Given the description of an element on the screen output the (x, y) to click on. 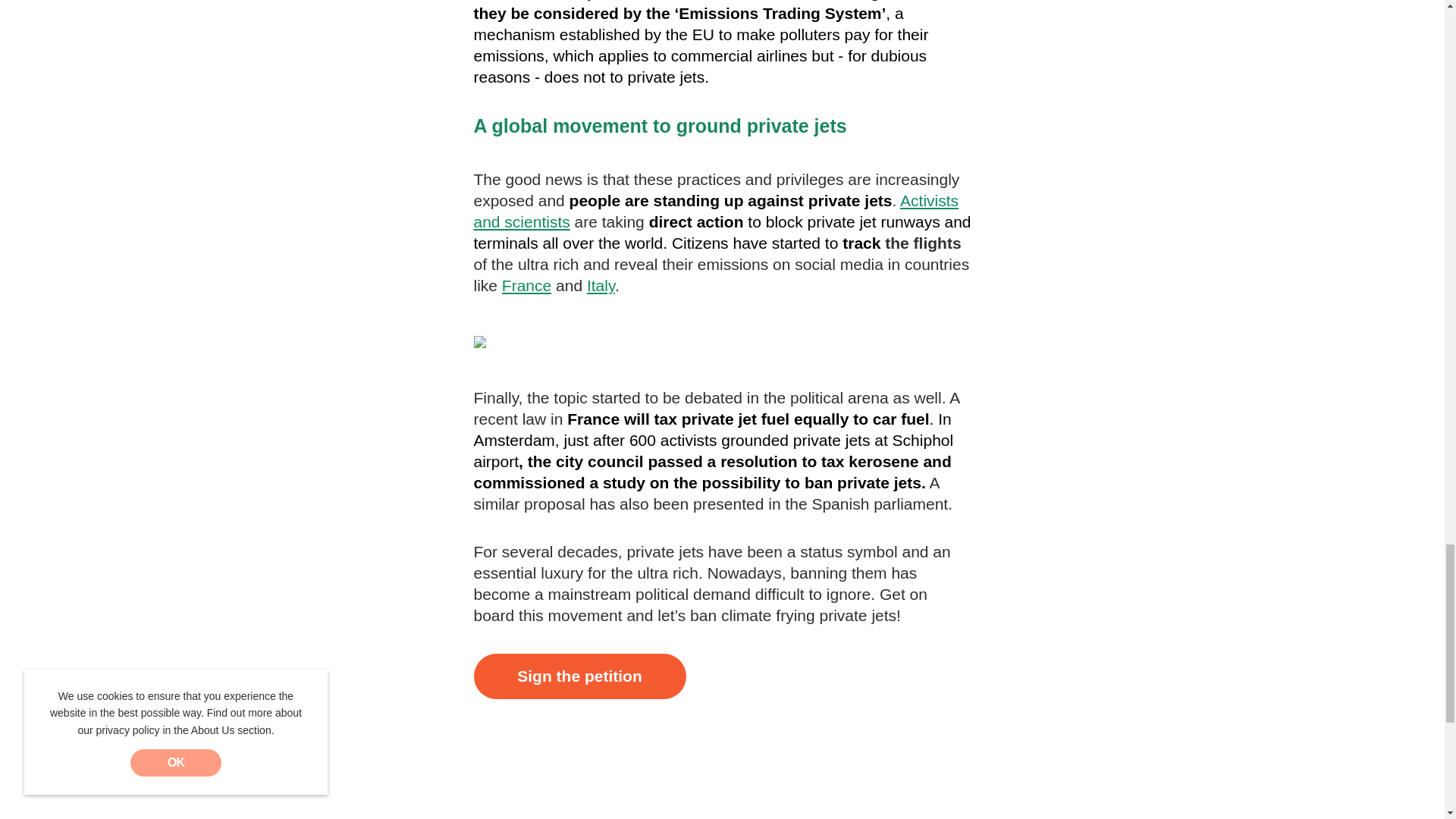
France (526, 285)
Sign the petition (579, 676)
Italy (600, 285)
Activists and scientists (715, 210)
